Given the description of an element on the screen output the (x, y) to click on. 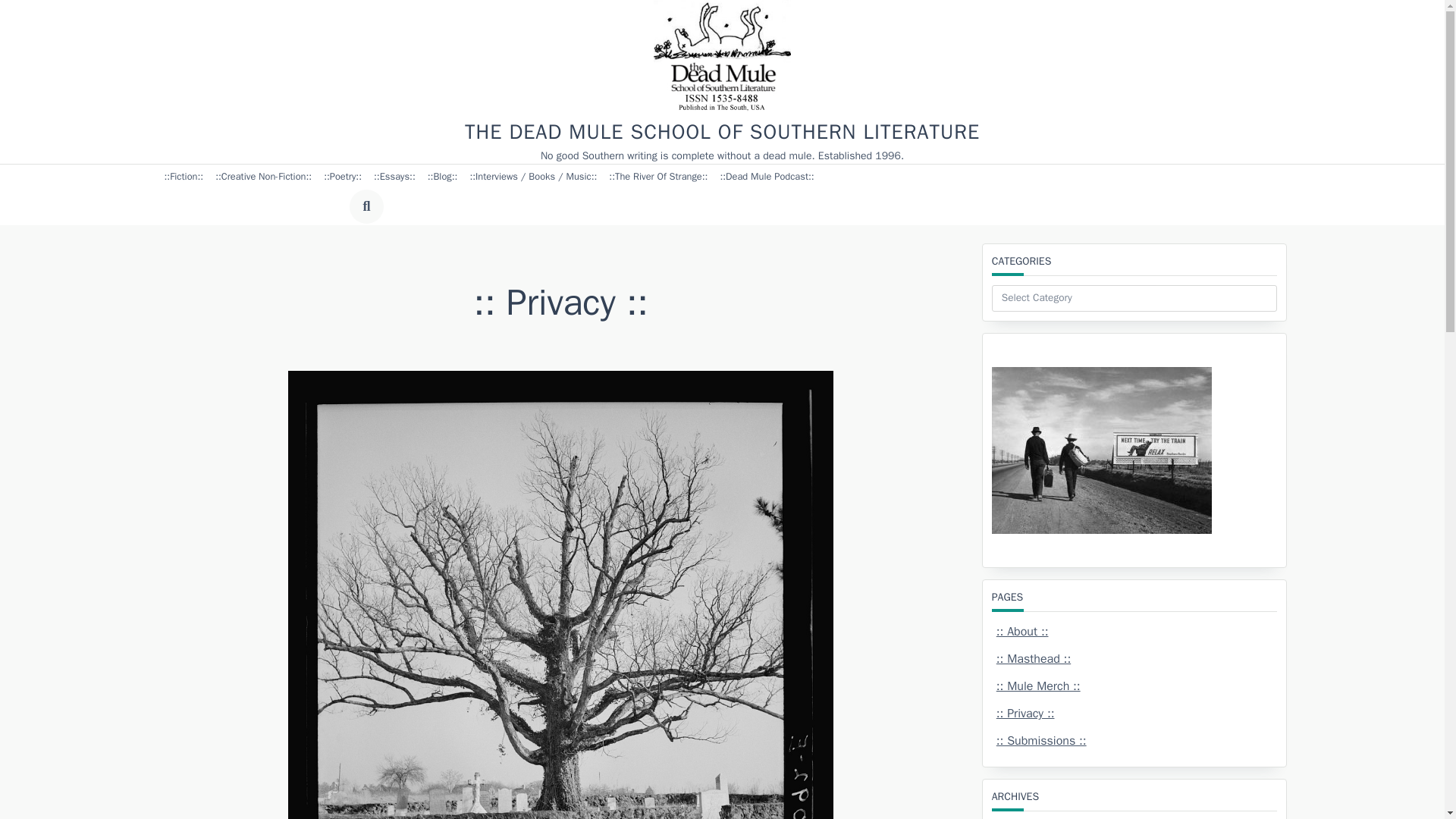
:: Submissions :: (1040, 740)
::Dead Mule Podcast:: (766, 177)
::The River Of Strange:: (657, 177)
::Fiction:: (183, 177)
THE DEAD MULE SCHOOL OF SOUTHERN LITERATURE (721, 131)
:: Masthead :: (1032, 658)
:: Mule Merch :: (1037, 685)
::Poetry:: (342, 177)
